Given the description of an element on the screen output the (x, y) to click on. 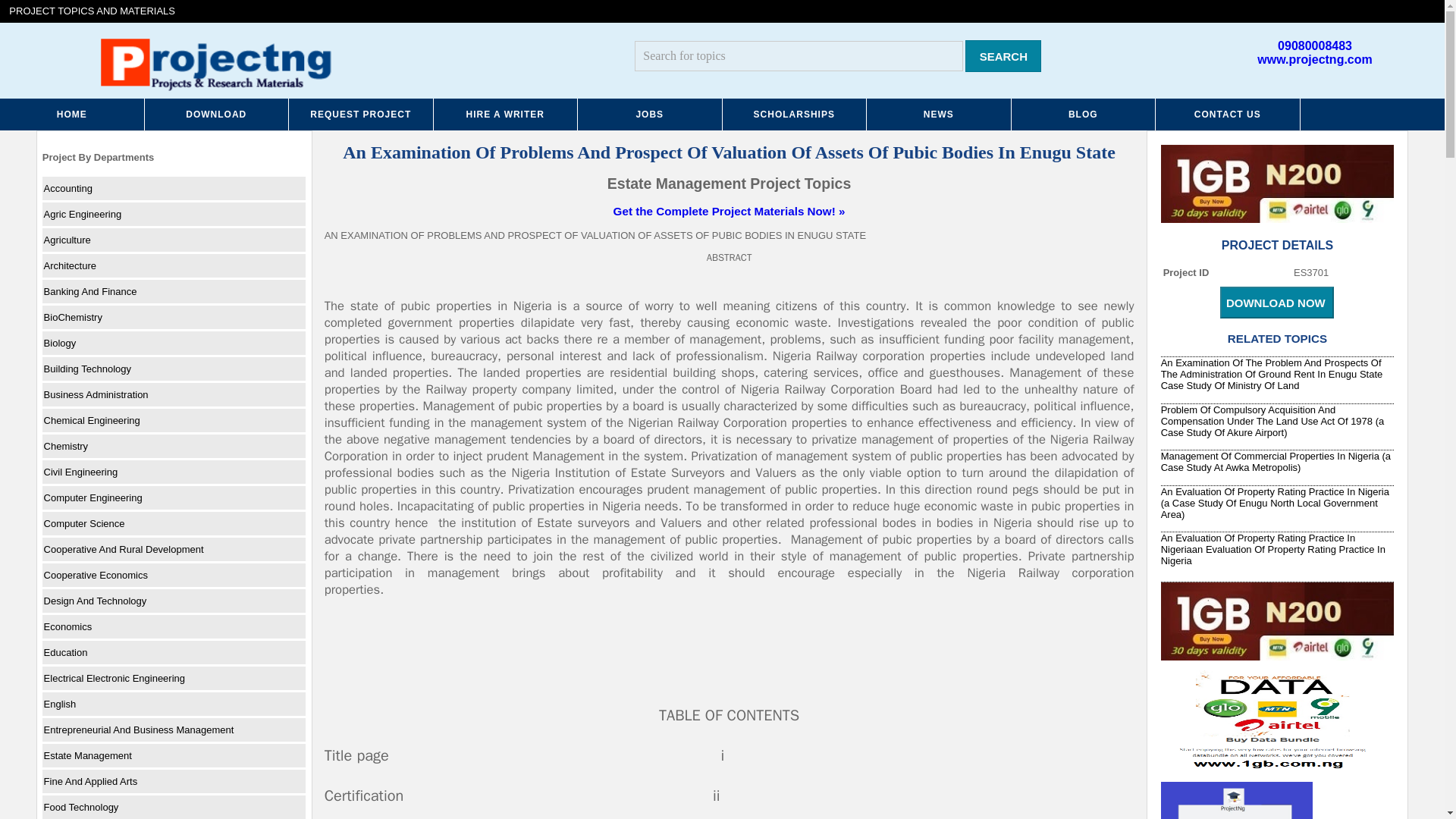
SCHOLARSHIPS (794, 114)
PROJECT TOPICS AND MATERIALS (92, 10)
Blog (1083, 114)
09080008483 (1315, 45)
JOBS (650, 114)
Download Now  (1276, 302)
JOBS (650, 114)
HOME (72, 114)
Download Materials (216, 114)
REQUEST PROJECT (360, 114)
DOWNLOAD (216, 114)
Hire a Project Writer (505, 114)
News (938, 114)
HIRE A WRITER (505, 114)
Contacts (1228, 114)
